Given the description of an element on the screen output the (x, y) to click on. 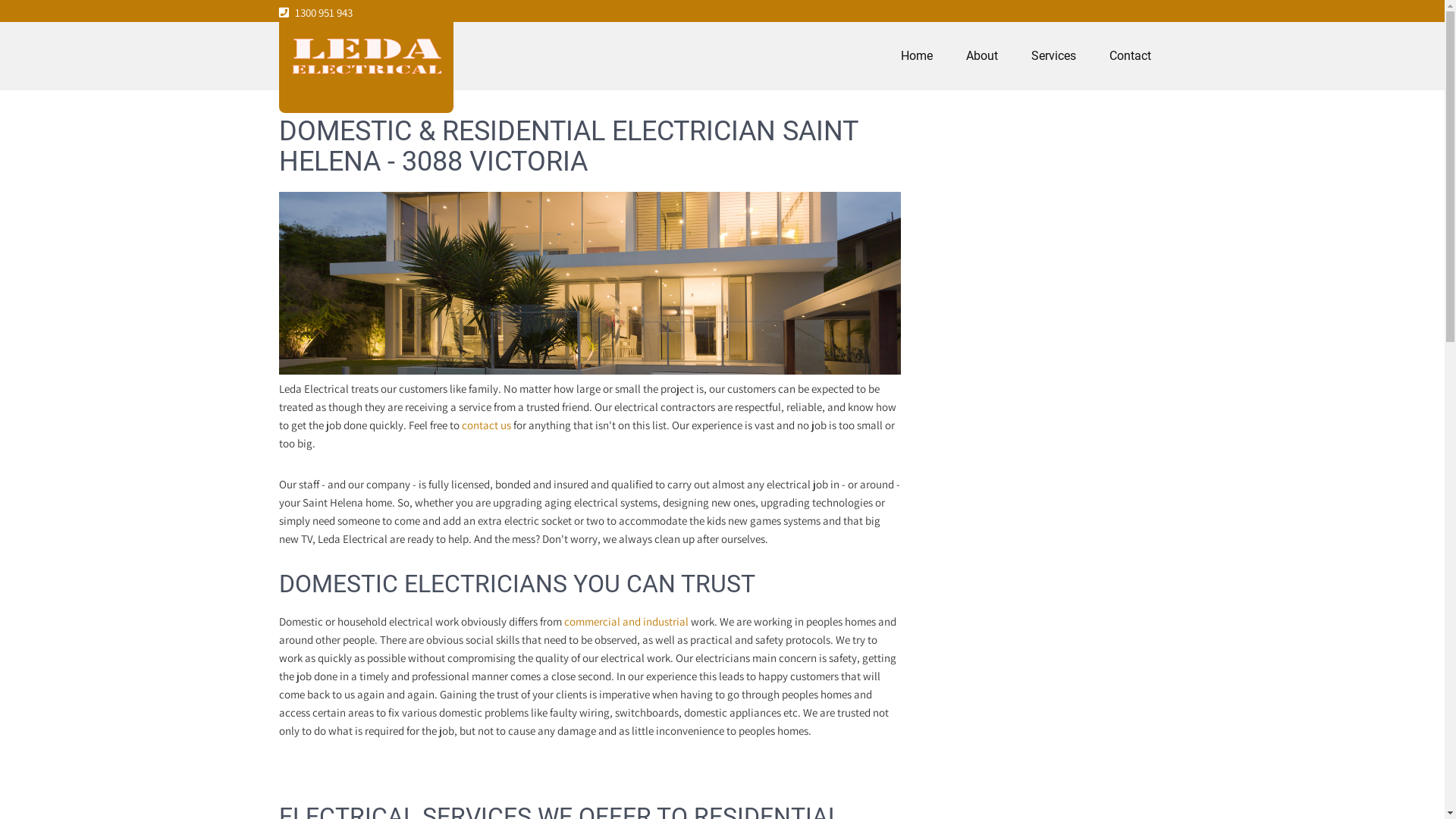
About Element type: text (981, 55)
Home Element type: text (916, 55)
Contact Element type: text (1129, 55)
commercial and industrial Element type: text (626, 621)
Services Element type: text (1053, 55)
contact us Element type: text (485, 424)
